Given the description of an element on the screen output the (x, y) to click on. 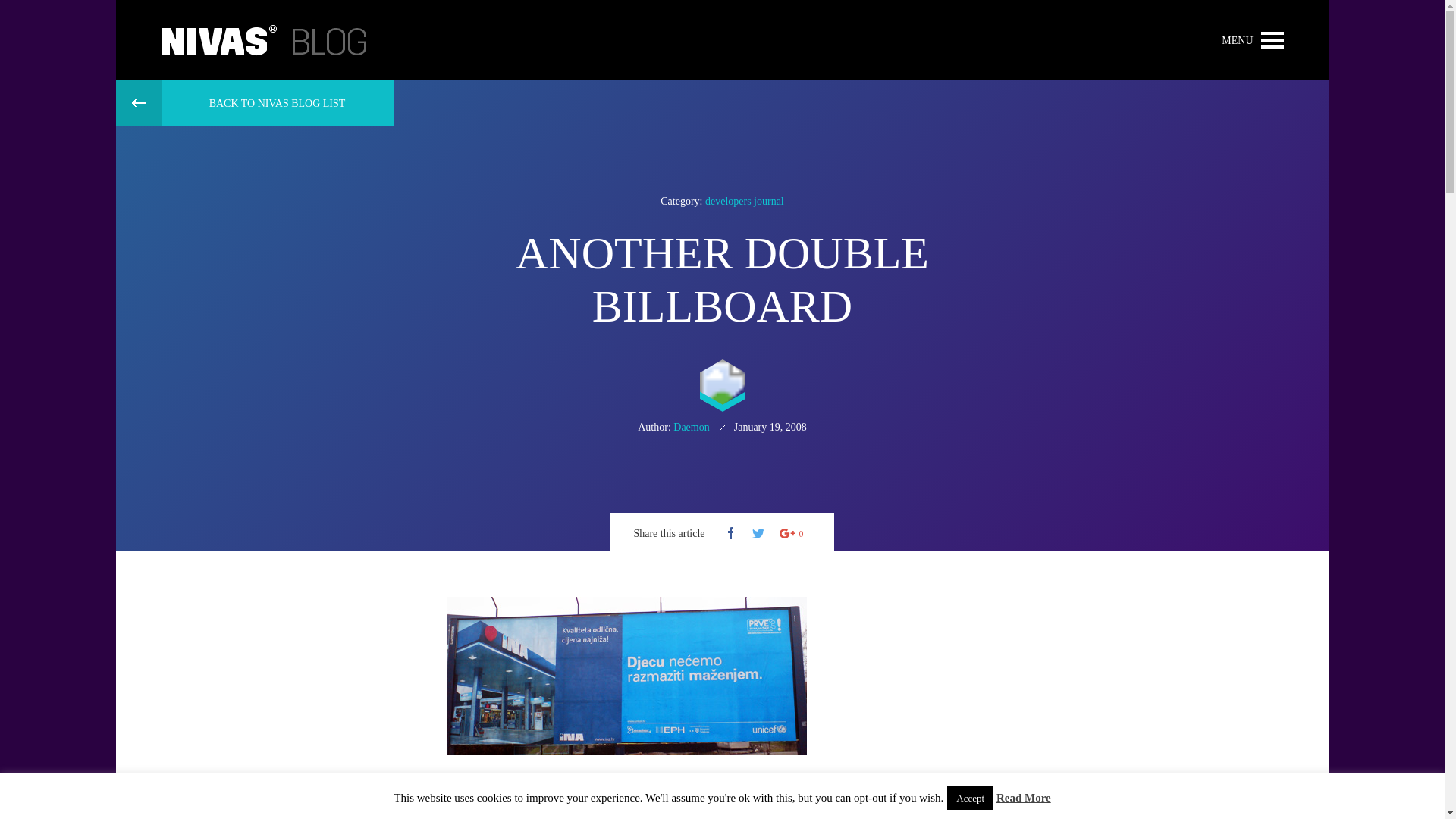
BACK TO NIVAS BLOG LIST (254, 103)
0 (792, 533)
developers journal (744, 201)
